Given the description of an element on the screen output the (x, y) to click on. 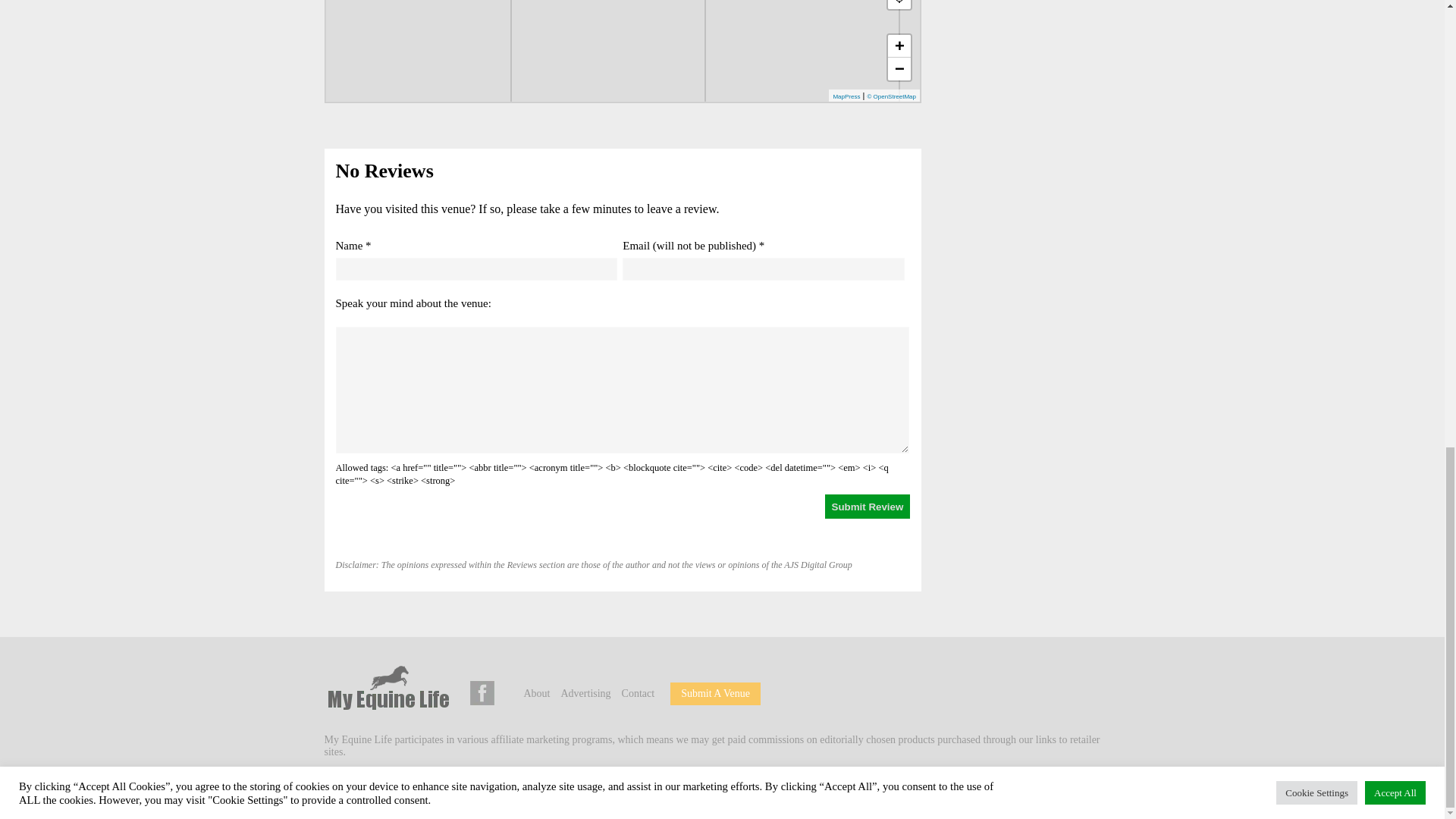
MapPress (846, 96)
Advertising (585, 693)
AJS Digital Group (430, 787)
Submit Review (867, 506)
Terms of Use (597, 787)
About (536, 693)
Contact (638, 693)
Your Location (899, 5)
Submit Review (867, 506)
Submit A Venue (715, 693)
